Given the description of an element on the screen output the (x, y) to click on. 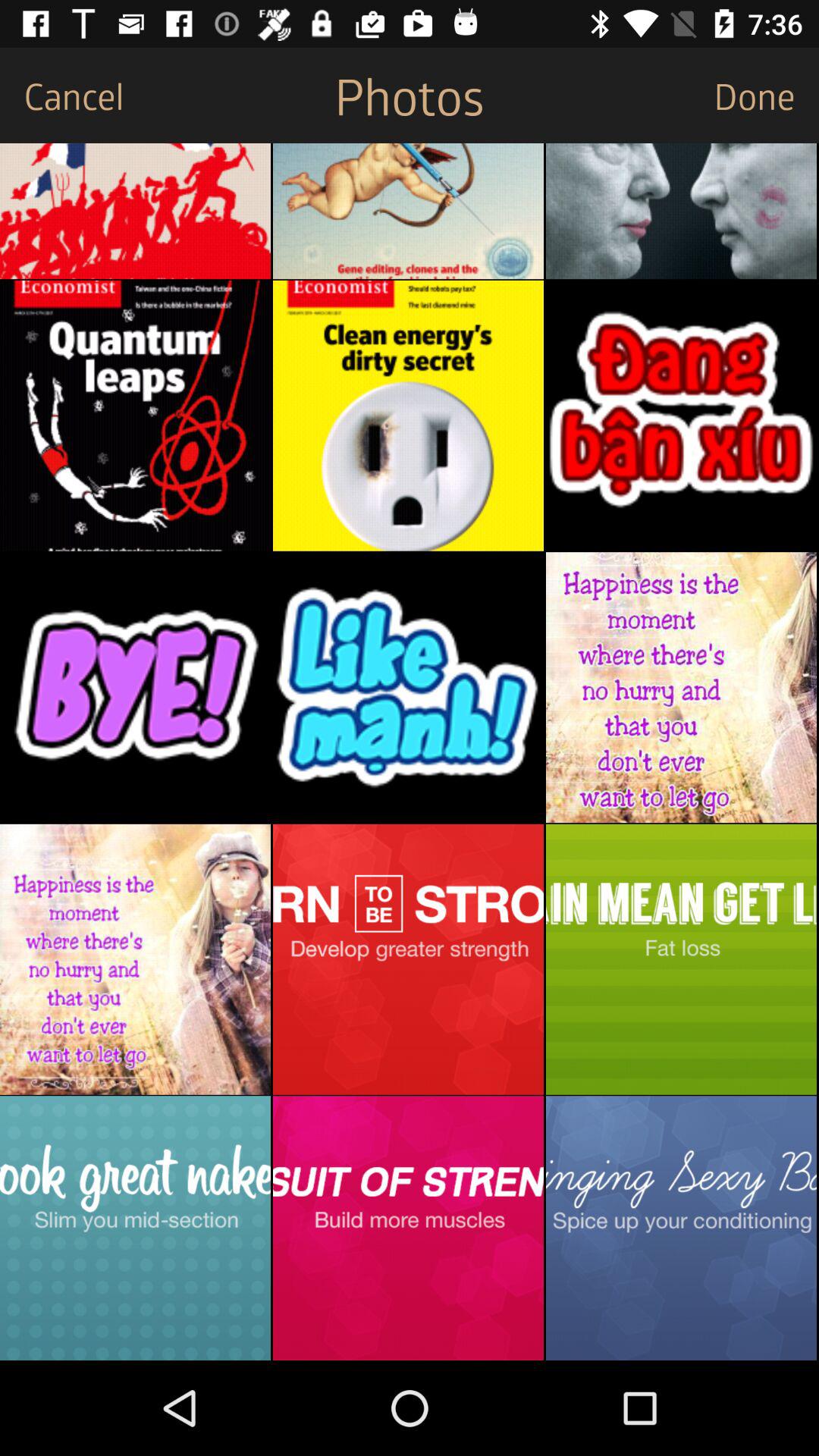
view photo (681, 687)
